Given the description of an element on the screen output the (x, y) to click on. 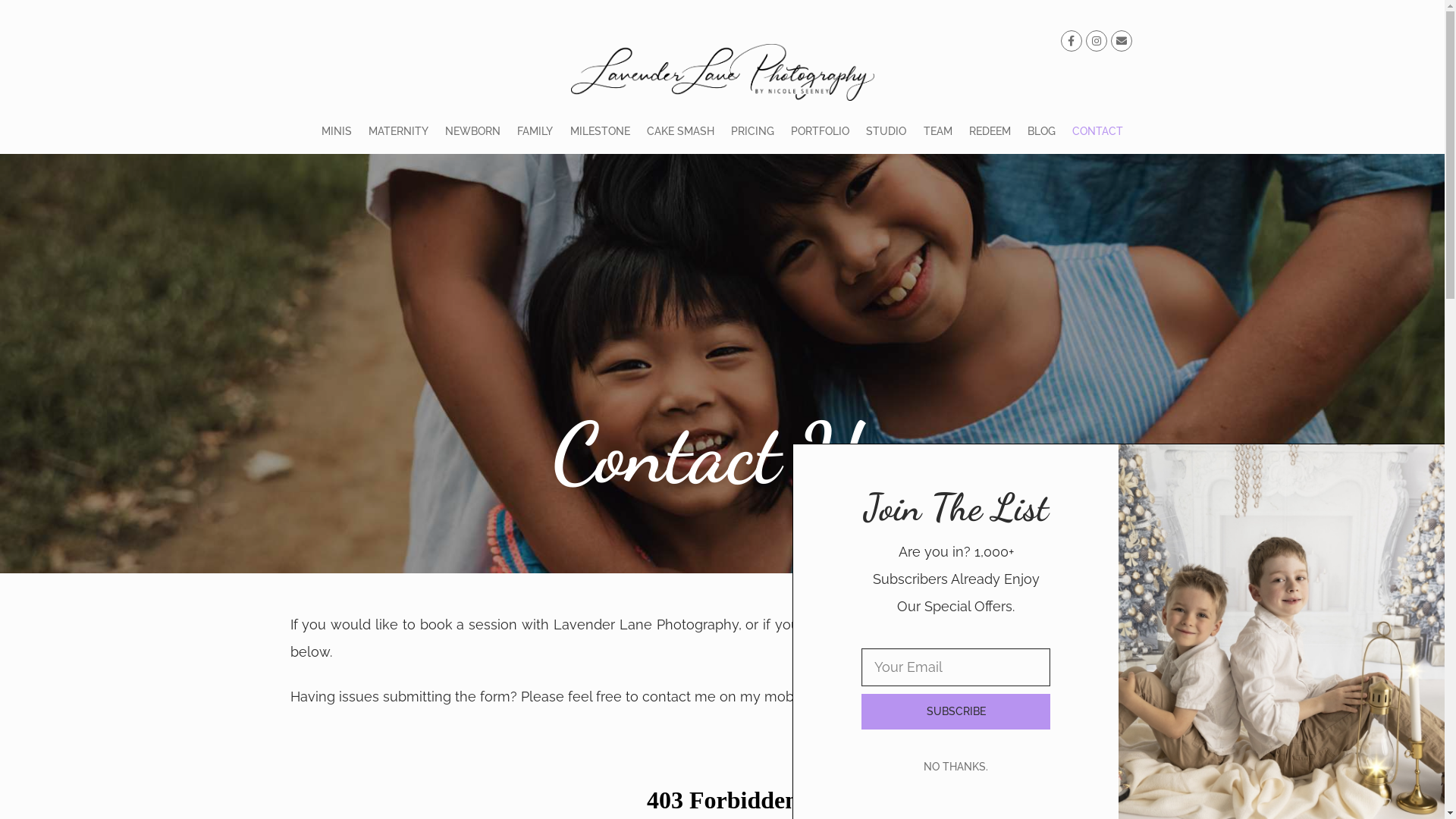
PORTFOLIO Element type: text (819, 130)
NO THANKS. Element type: text (955, 766)
REDEEM Element type: text (989, 130)
FAMILY Element type: text (534, 130)
MINIS Element type: text (335, 130)
TEAM Element type: text (937, 130)
Facebook Element type: text (977, 696)
MILESTONE Element type: text (599, 130)
BLOG Element type: text (1041, 130)
CAKE SMASH Element type: text (680, 130)
STUDIO Element type: text (885, 130)
SUBSCRIBE Element type: text (955, 710)
0405 343 949, Element type: text (859, 696)
NEWBORN Element type: text (472, 130)
MATERNITY Element type: text (398, 130)
CONTACT Element type: text (1097, 130)
PRICING Element type: text (752, 130)
